Given the description of an element on the screen output the (x, y) to click on. 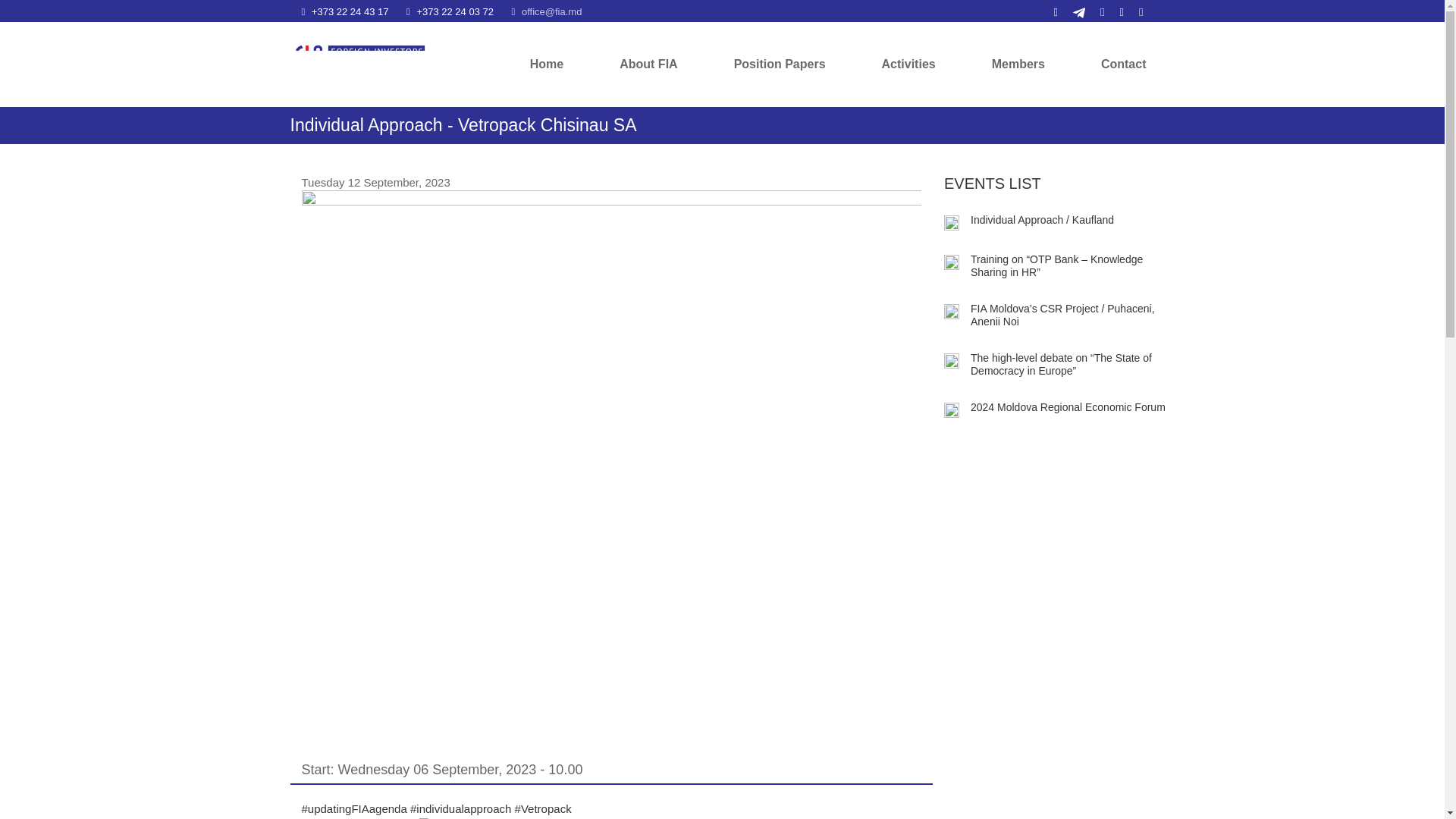
facebook (1133, 10)
Activities (908, 59)
telegram (1071, 10)
About FIA (648, 59)
Members (1018, 59)
Position Papers (779, 59)
twitter (1114, 10)
2024 Moldova Regional Economic Forum (951, 409)
youtube (1093, 10)
linkedin (1048, 10)
